Given the description of an element on the screen output the (x, y) to click on. 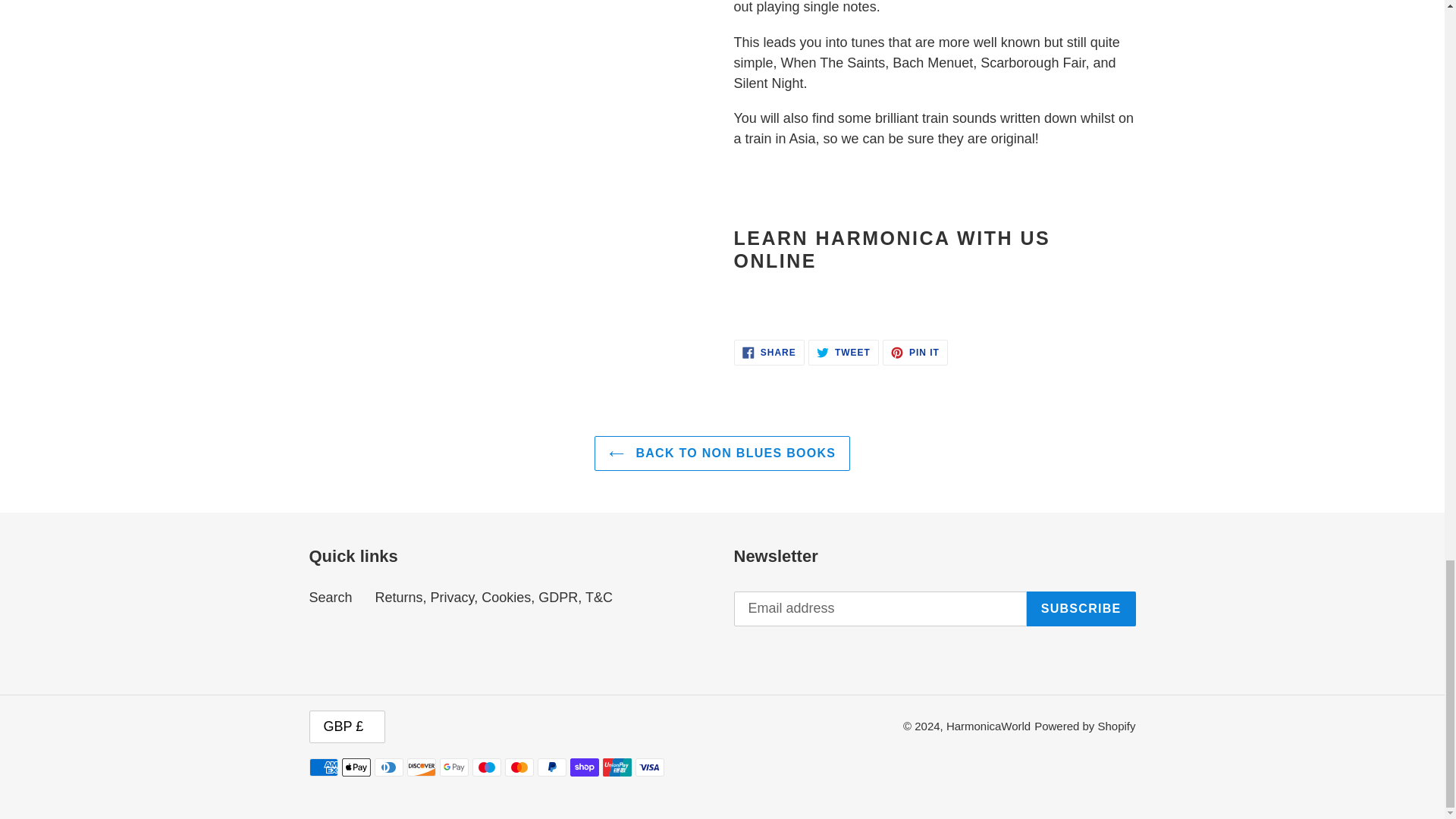
BACK TO NON BLUES BOOKS (769, 352)
SUBSCRIBE (722, 452)
Search (1080, 608)
